Given the description of an element on the screen output the (x, y) to click on. 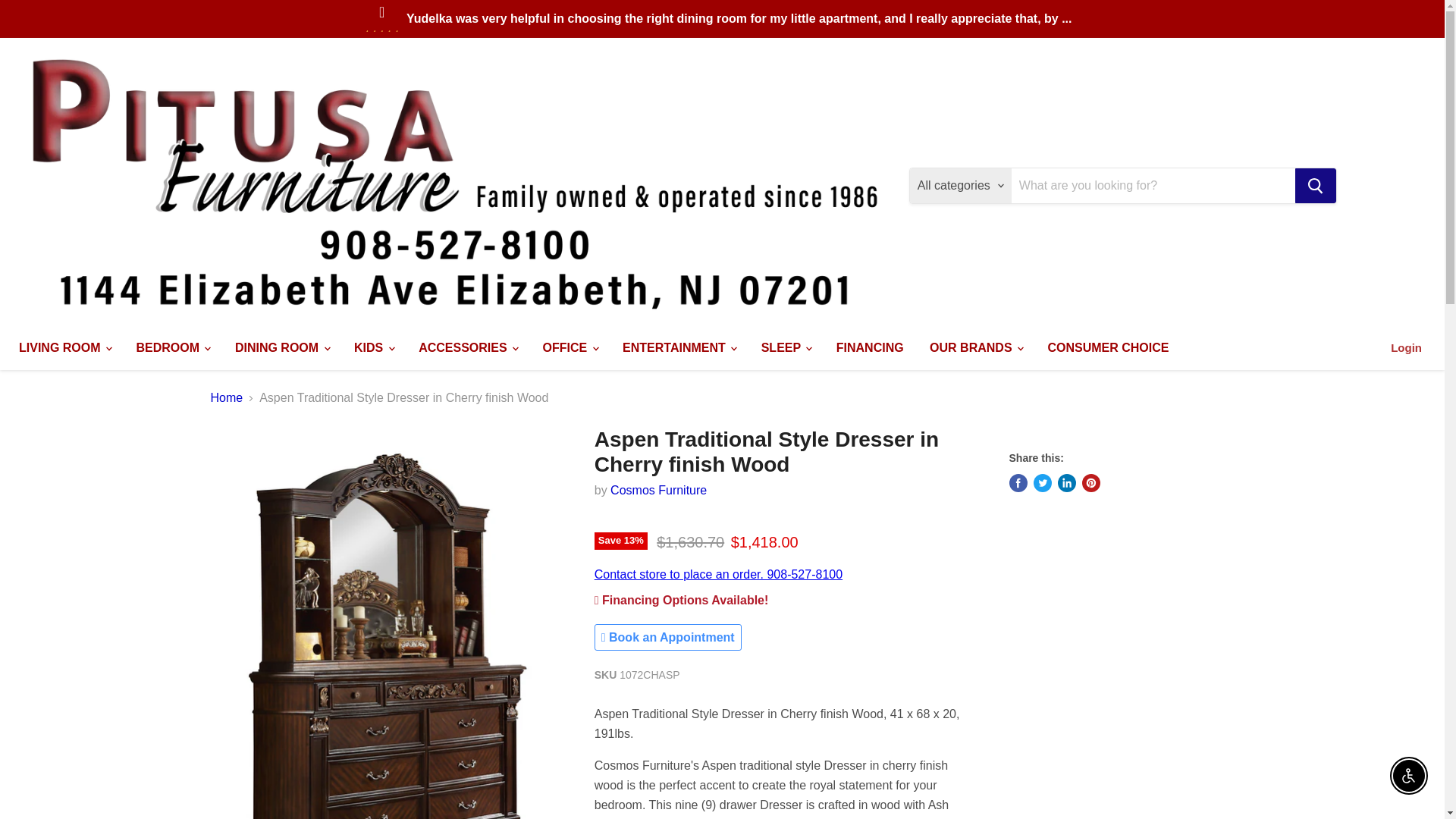
Cosmos Furniture (658, 490)
BEDROOM (171, 347)
LIVING ROOM (63, 347)
